Given the description of an element on the screen output the (x, y) to click on. 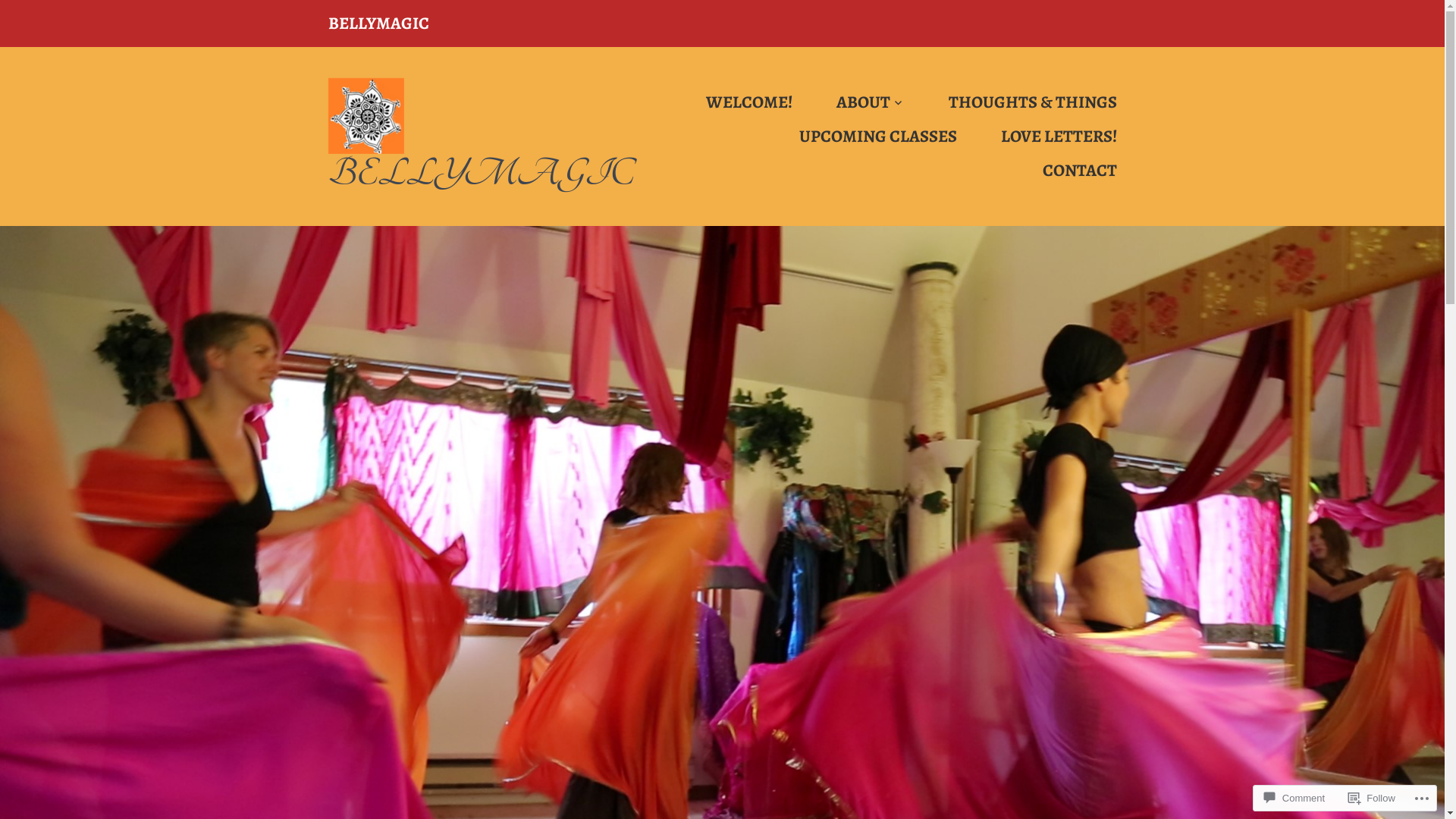
CONTACT Element type: text (1059, 170)
ABOUT Element type: text (849, 102)
Comment Element type: text (1294, 797)
BELLYMAGIC Element type: text (480, 173)
Follow Element type: text (1371, 797)
UPCOMING CLASSES Element type: text (857, 136)
LOVE LETTERS! Element type: text (1038, 136)
WELCOME! Element type: text (728, 102)
THOUGHTS & THINGS Element type: text (1012, 102)
